Given the description of an element on the screen output the (x, y) to click on. 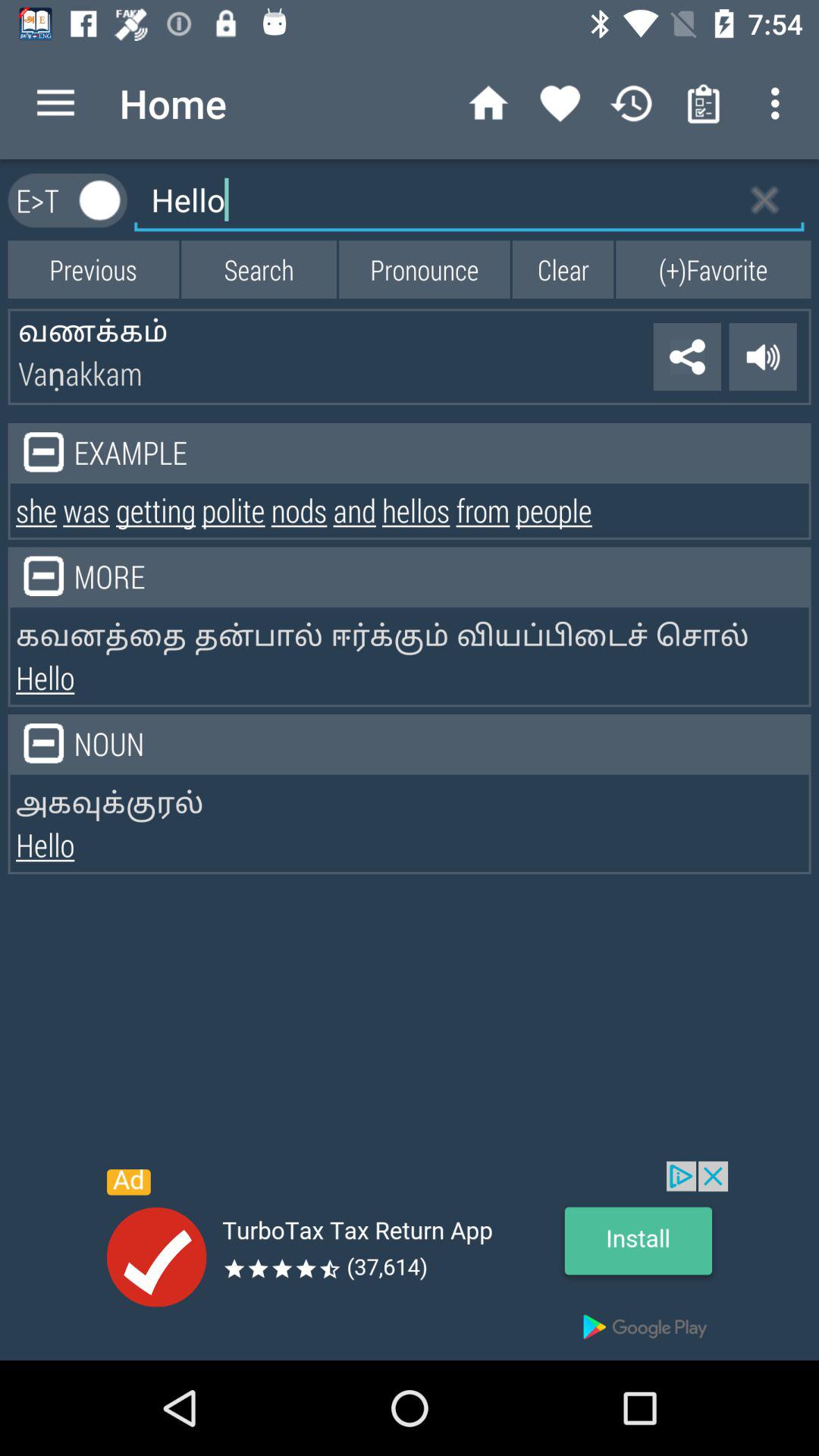
select the icon on left to the text noun on the web page (43, 742)
